Given the description of an element on the screen output the (x, y) to click on. 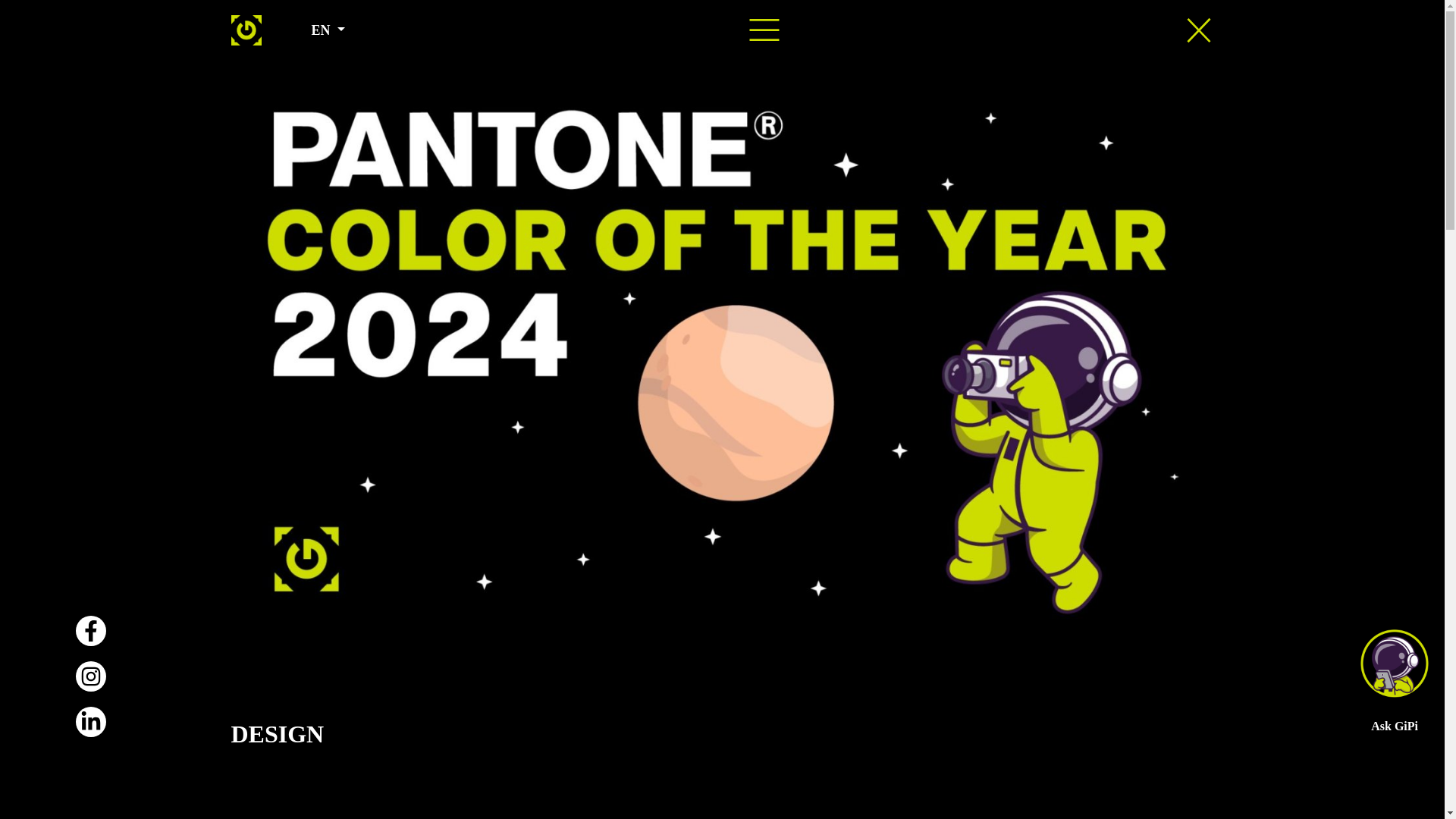
EN (327, 29)
Instagram (90, 676)
Linkedin (90, 721)
chat icon (1393, 663)
Facebook (90, 630)
